Given the description of an element on the screen output the (x, y) to click on. 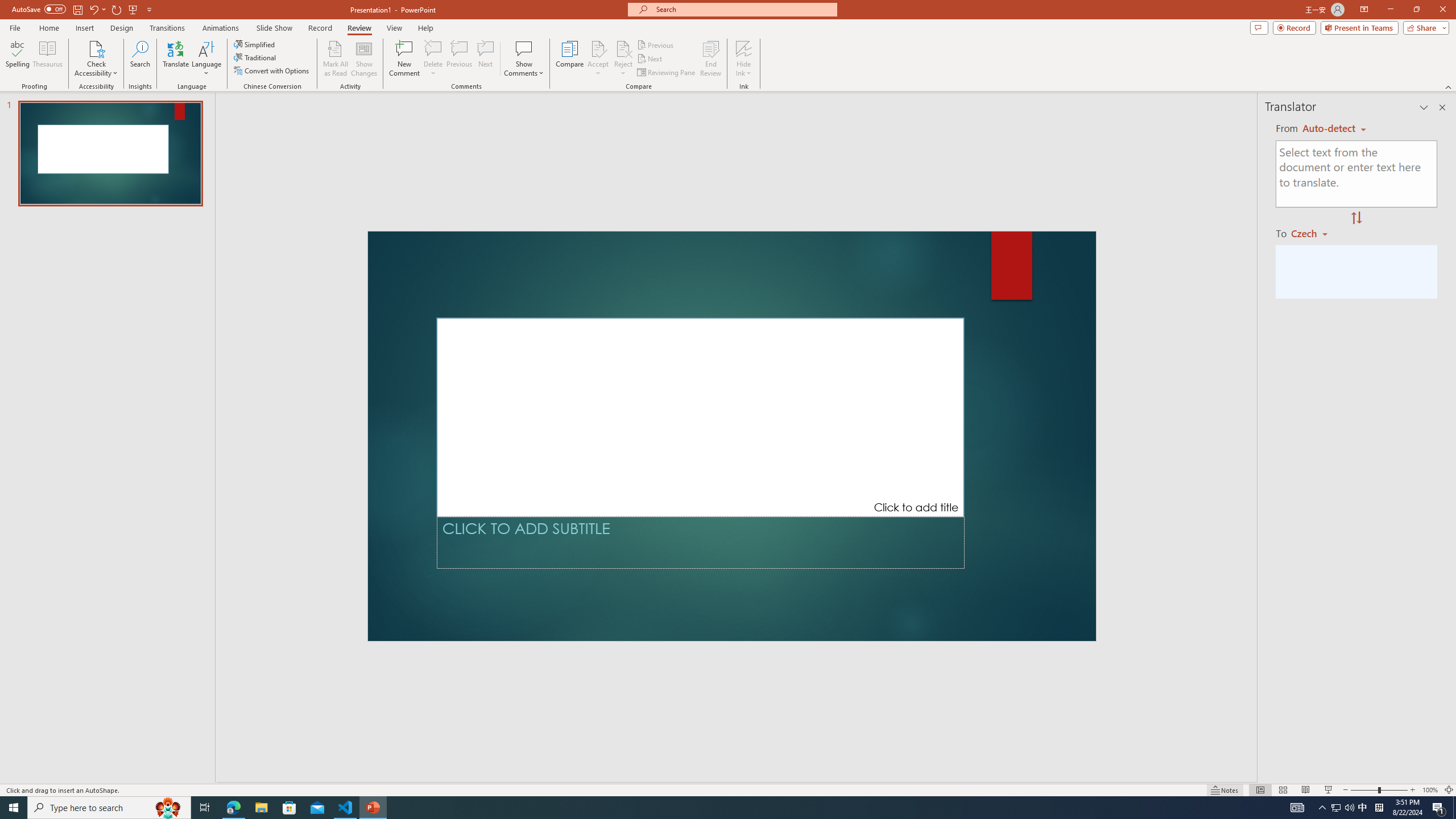
Reject Change (622, 48)
End Review (710, 58)
Language (206, 58)
Compare (569, 58)
